Given the description of an element on the screen output the (x, y) to click on. 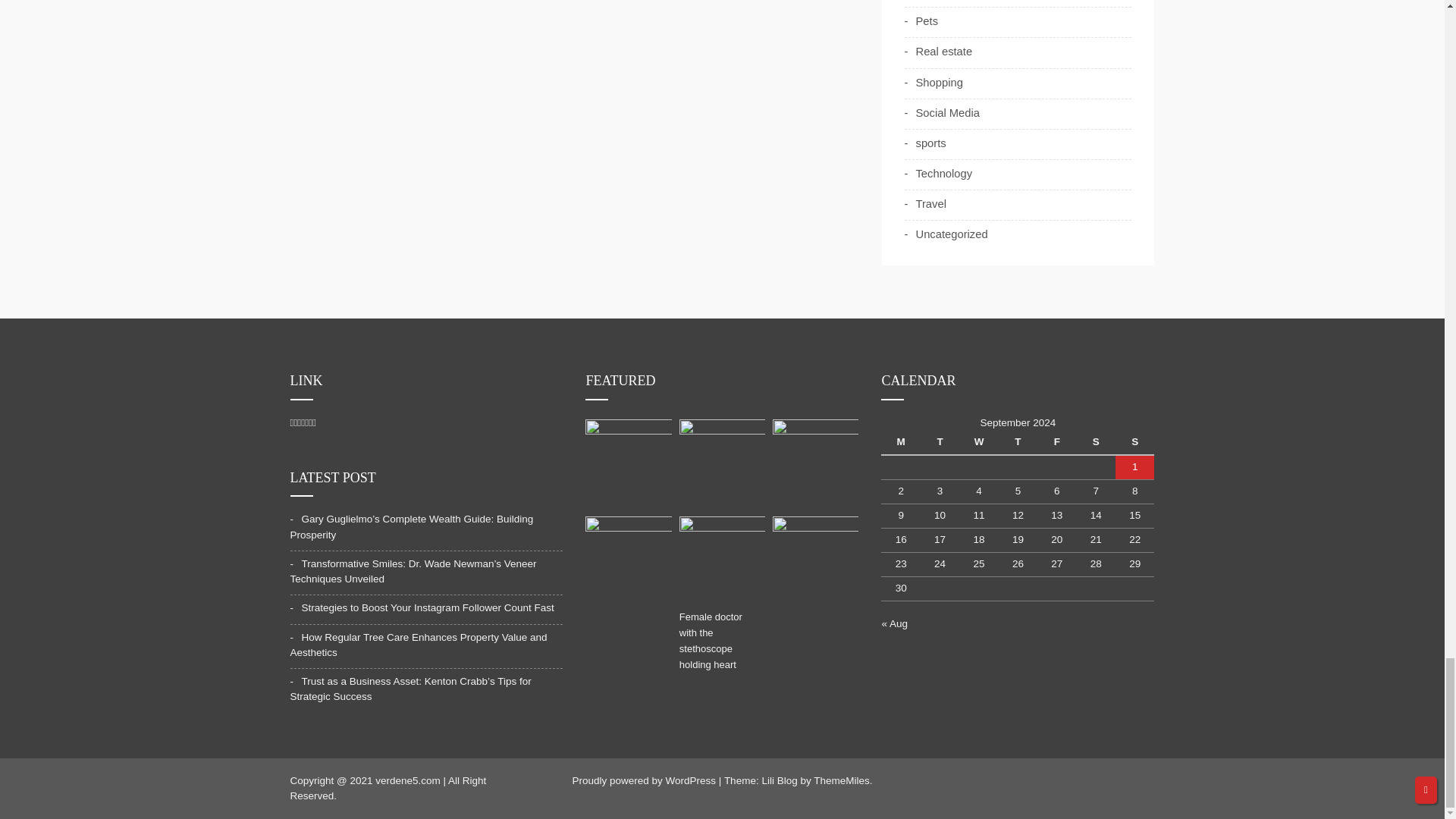
Thursday (1017, 442)
Tuesday (939, 442)
Friday (1055, 442)
Saturday (1096, 442)
Wednesday (978, 442)
Sunday (1134, 442)
Monday (900, 442)
